Given the description of an element on the screen output the (x, y) to click on. 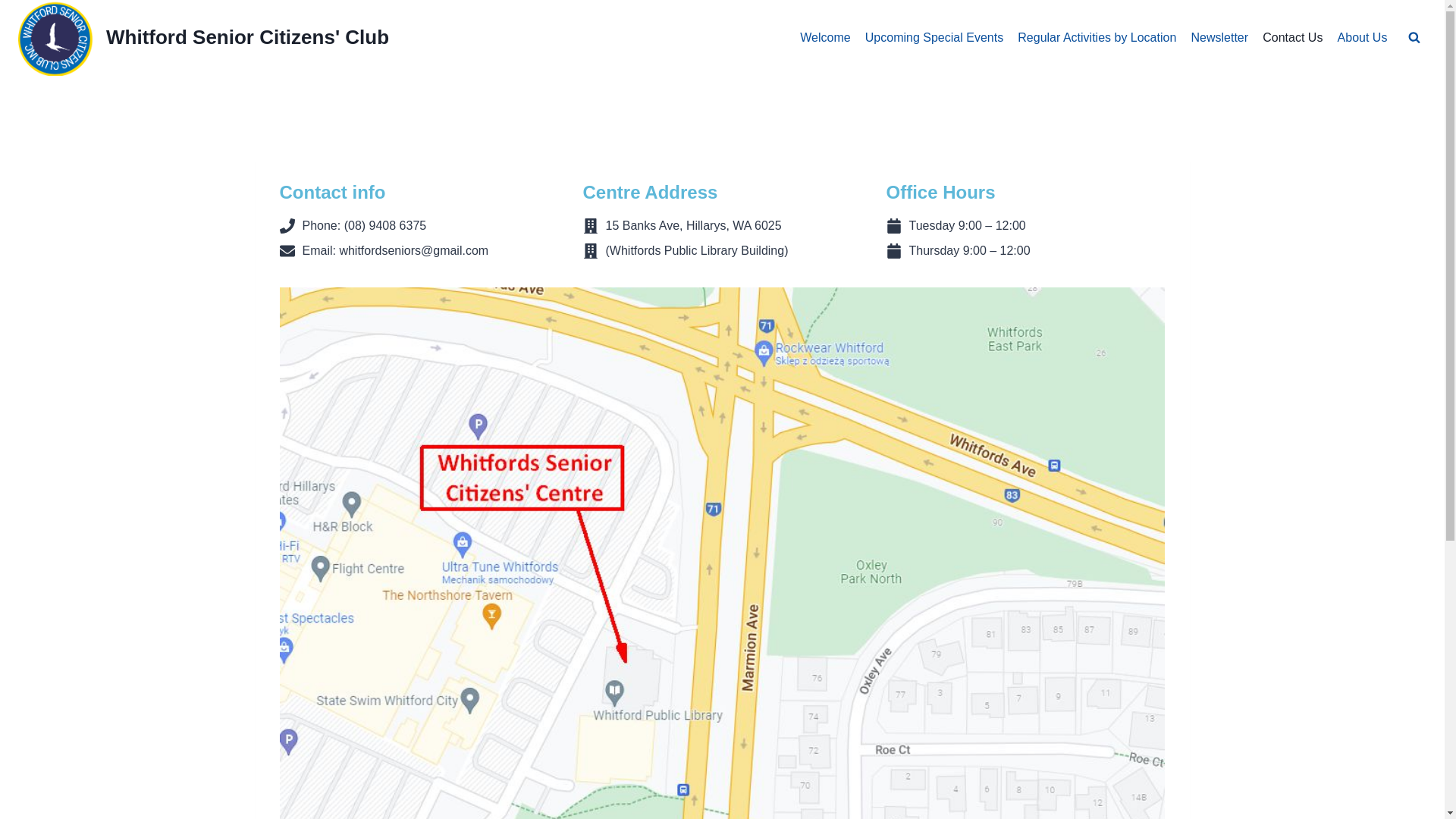
Whitford Senior Citizens' Club Element type: text (203, 37)
Upcoming Special Events Element type: text (933, 38)
Welcome Element type: text (825, 38)
Newsletter Element type: text (1219, 38)
Contact Us Element type: text (1292, 38)
About Us Element type: text (1362, 38)
Regular Activities by Location Element type: text (1096, 38)
